Given the description of an element on the screen output the (x, y) to click on. 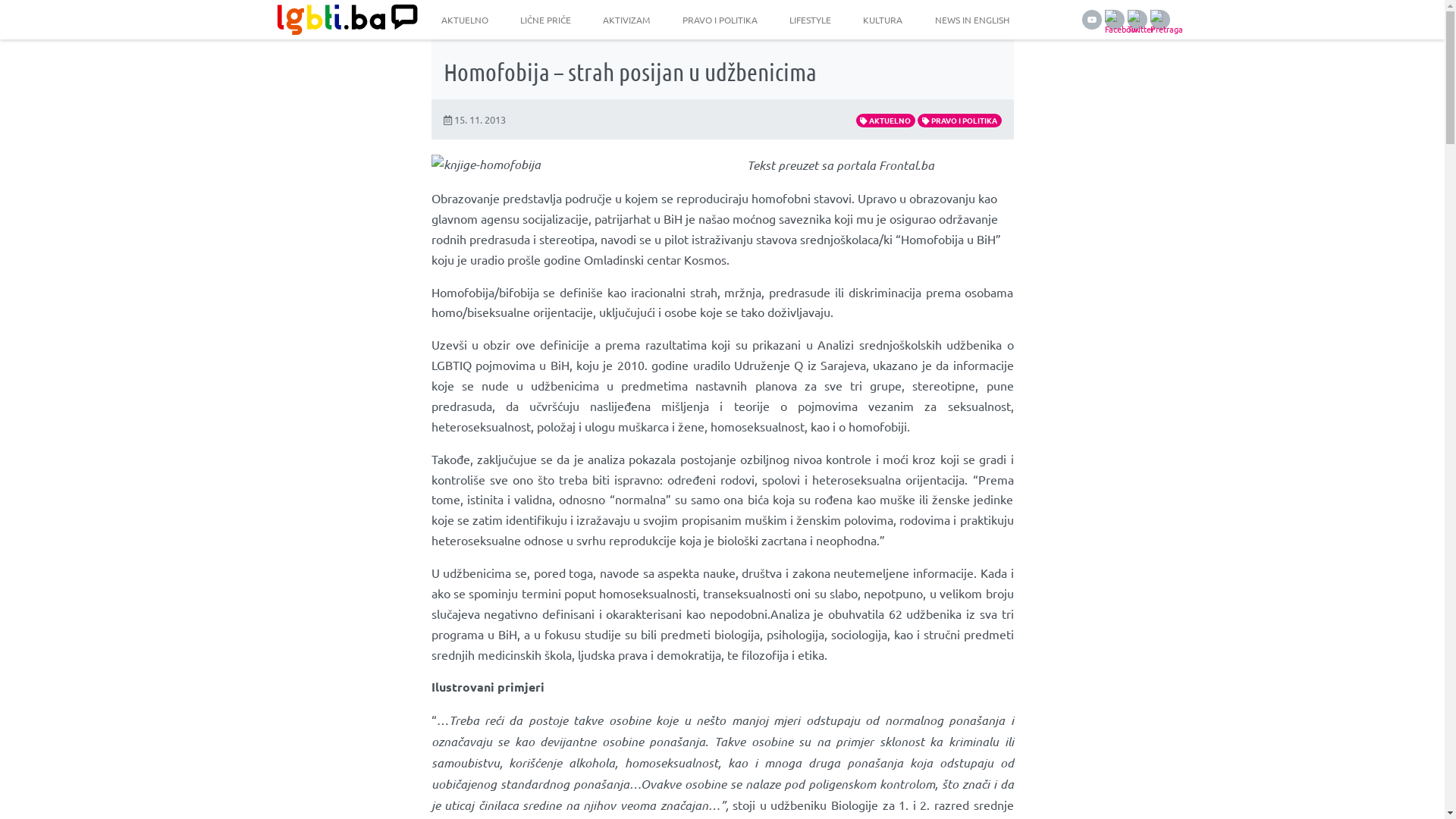
LGBTI.ba Element type: hover (342, 19)
KULTURA Element type: text (882, 19)
Pretraga Element type: hover (1159, 19)
PRAVO I POLITIKA Element type: text (959, 120)
YouTube Element type: hover (1091, 19)
LIFESTYLE Element type: text (810, 19)
Facebook Element type: hover (1113, 19)
Frontal.ba Element type: text (905, 164)
AKTIVIZAM Element type: text (625, 19)
NEWS IN ENGLISH Element type: text (971, 19)
Twitter Element type: hover (1136, 19)
AKTUELNO Element type: text (464, 19)
AKTUELNO Element type: text (885, 120)
PRAVO I POLITIKA Element type: text (719, 19)
